Given the description of an element on the screen output the (x, y) to click on. 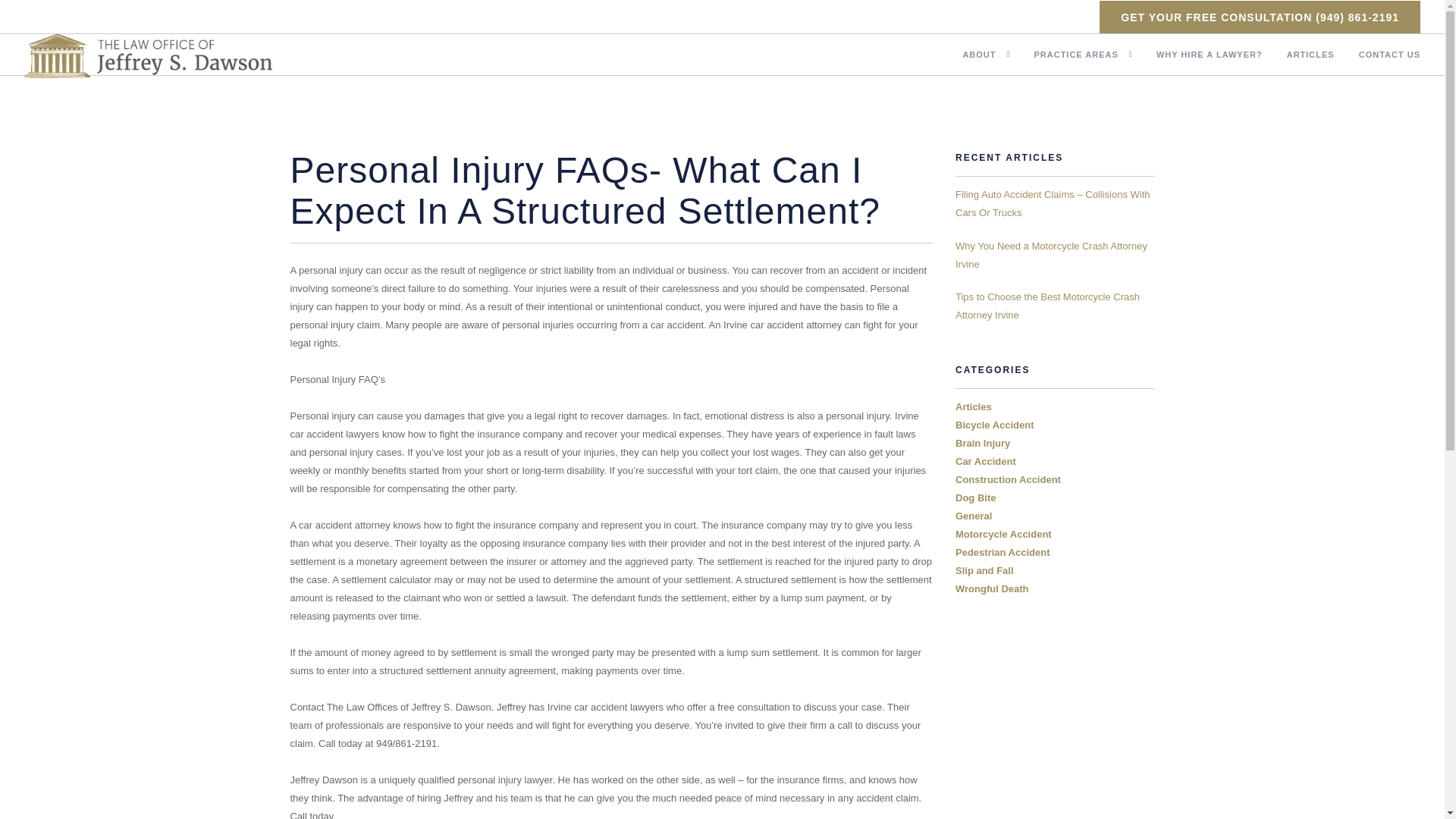
WHY HIRE A LAWYER? (1209, 55)
Articles (973, 406)
Bicycle Accident (994, 424)
Tips to Choose the Best Motorcycle Crash Attorney Irvine (1047, 306)
Dog Bite (975, 497)
General (973, 515)
Construction Accident (1008, 479)
PRACTICE AREAS (1075, 55)
ARTICLES (1311, 55)
